Given the description of an element on the screen output the (x, y) to click on. 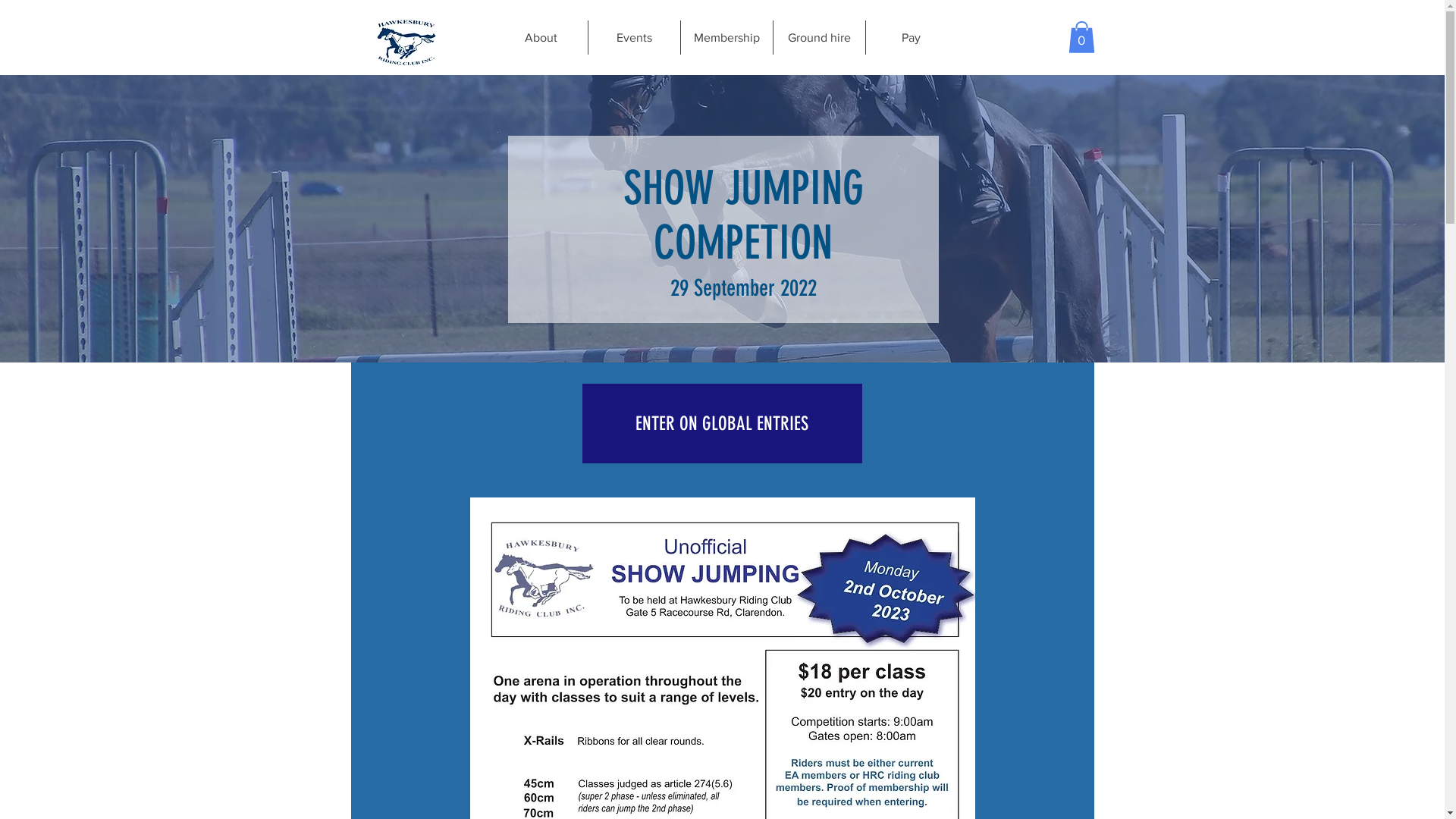
0 Element type: text (1080, 37)
About Element type: text (540, 37)
ENTER ON GLOBAL ENTRIES Element type: text (722, 423)
Ground hire Element type: text (817, 37)
Pay Element type: text (910, 37)
